Given the description of an element on the screen output the (x, y) to click on. 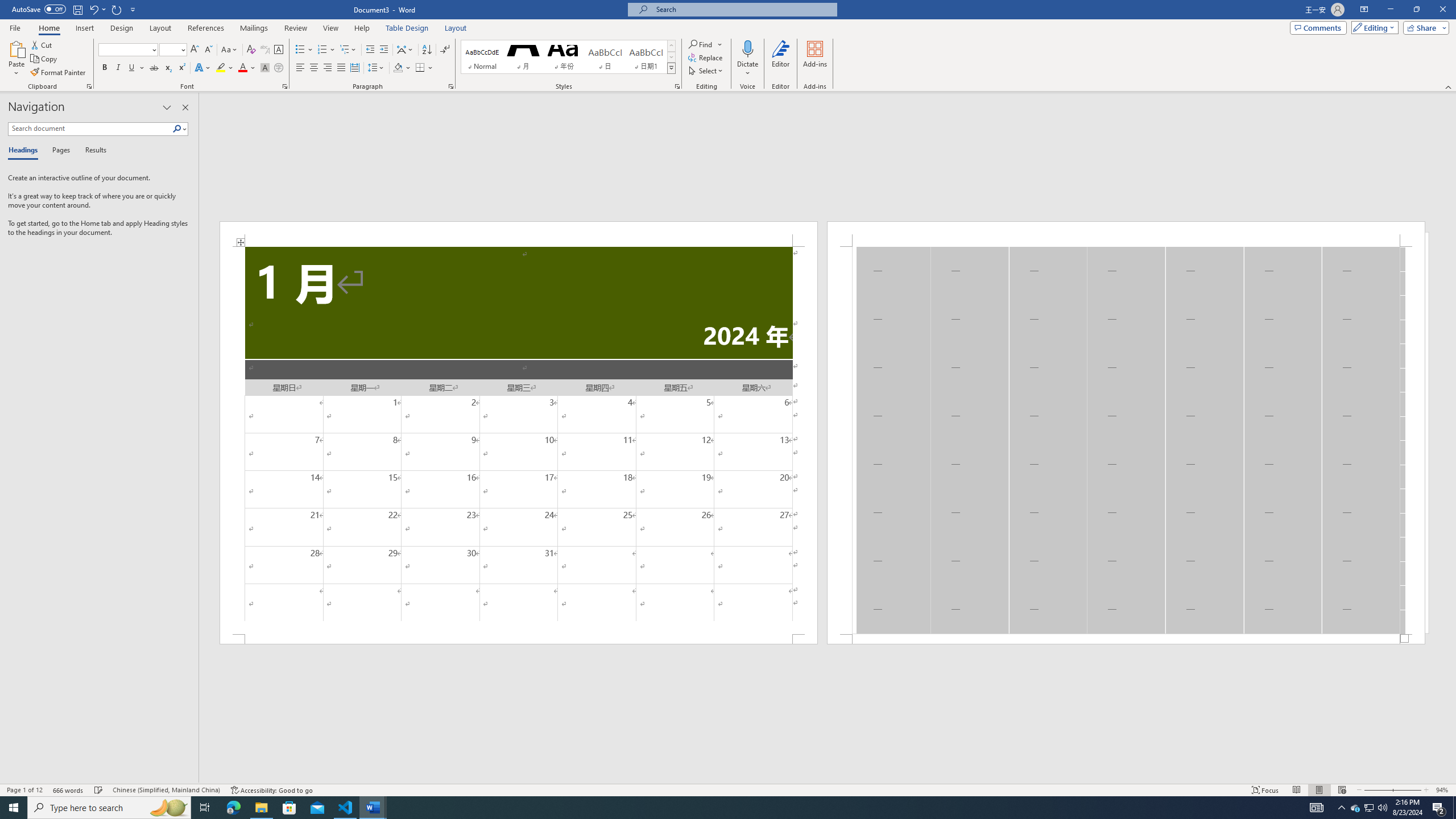
Align Right (327, 67)
Underline (131, 67)
Font (128, 49)
Numbering (326, 49)
Sort... (426, 49)
Word Count 666 words (68, 790)
Show/Hide Editing Marks (444, 49)
Select (705, 69)
Font Size (172, 49)
Text Highlight Color Yellow (220, 67)
Styles (670, 67)
Save (77, 9)
